Given the description of an element on the screen output the (x, y) to click on. 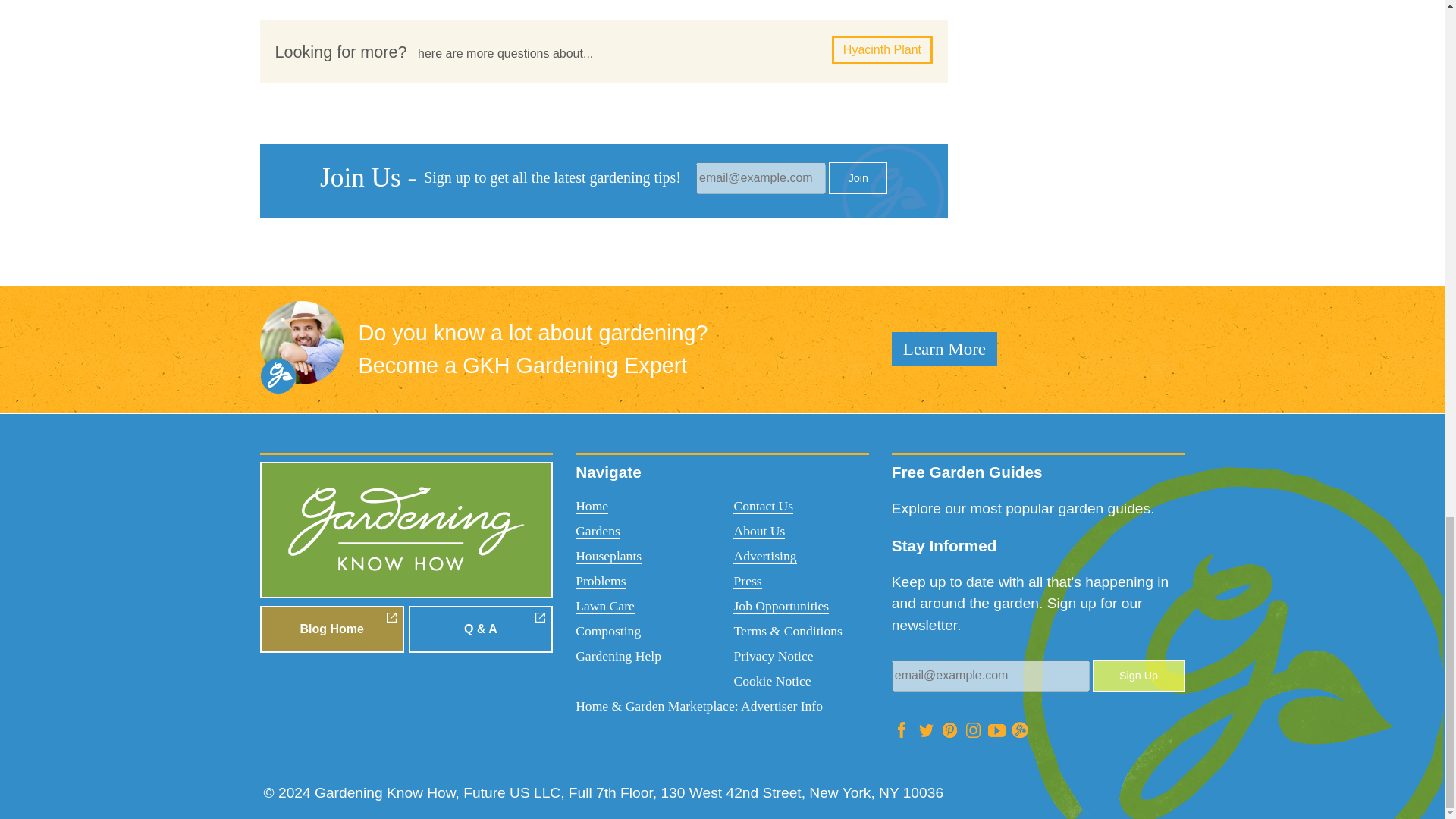
Join (857, 178)
Hyacinth Plant (882, 50)
